Given the description of an element on the screen output the (x, y) to click on. 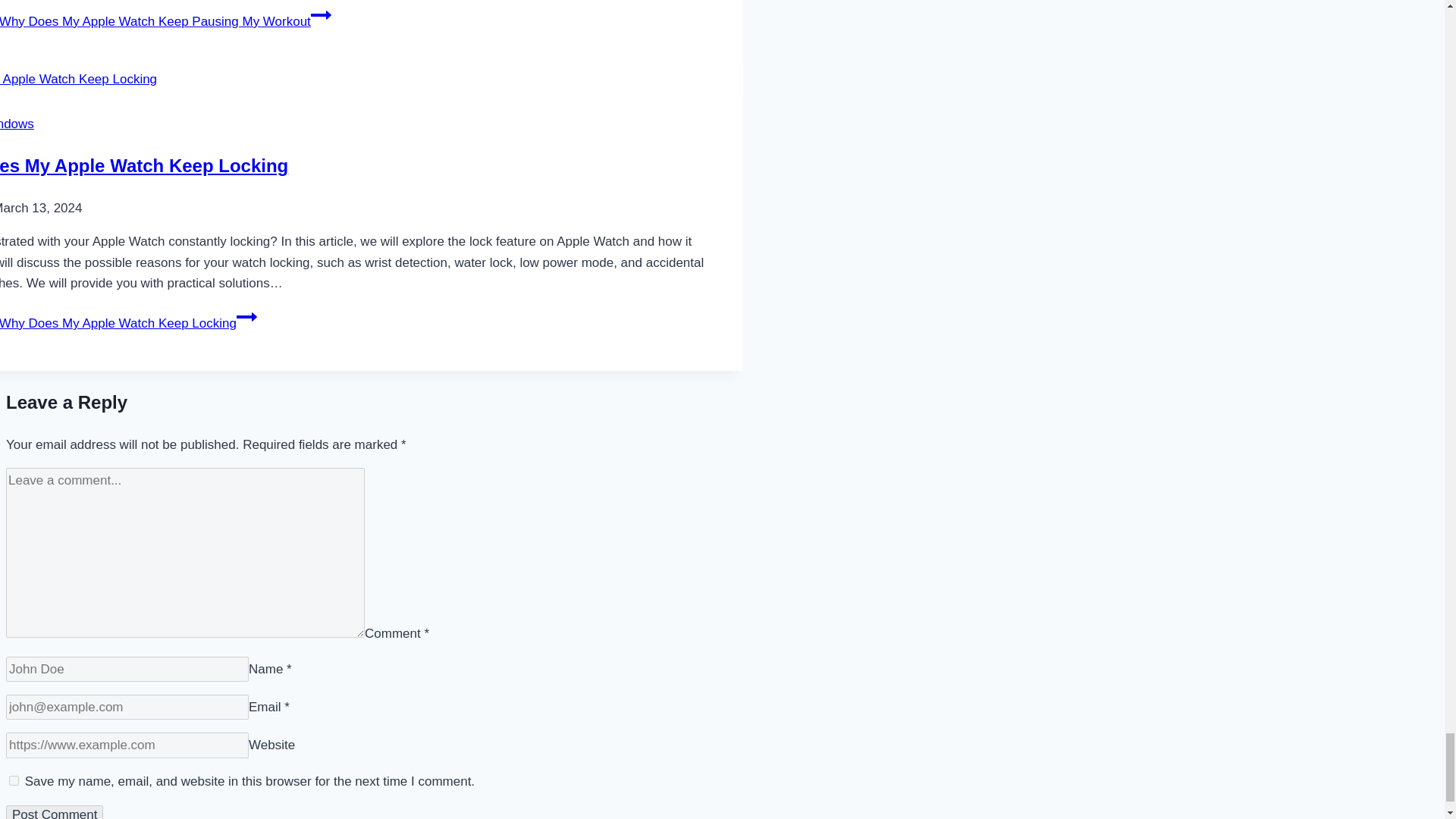
Continue (321, 14)
Continue (246, 316)
yes (13, 780)
